Given the description of an element on the screen output the (x, y) to click on. 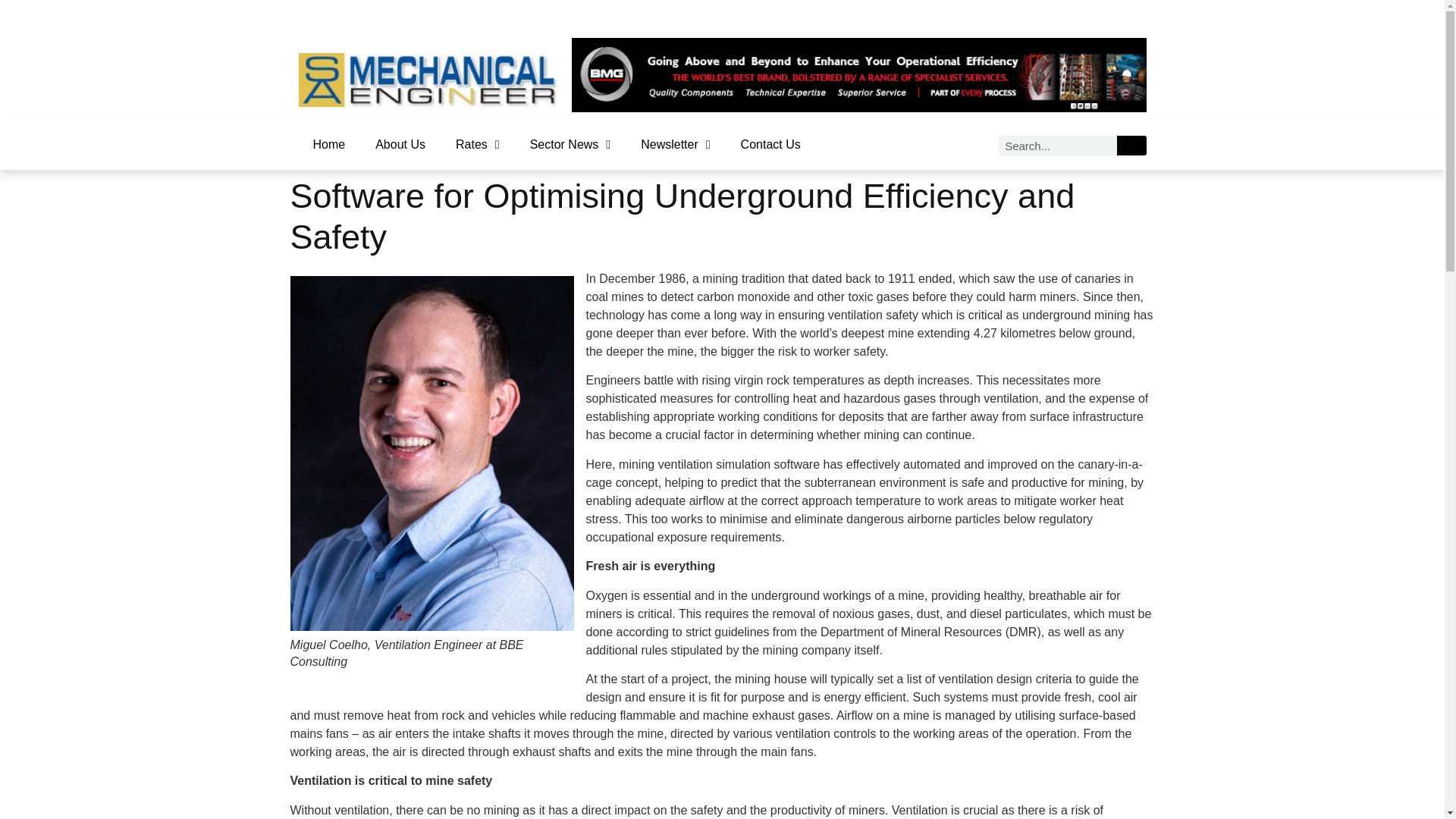
Rates (478, 144)
Contact Us (770, 144)
Sector News (570, 144)
Home (328, 144)
Newsletter (675, 144)
About Us (400, 144)
